Given the description of an element on the screen output the (x, y) to click on. 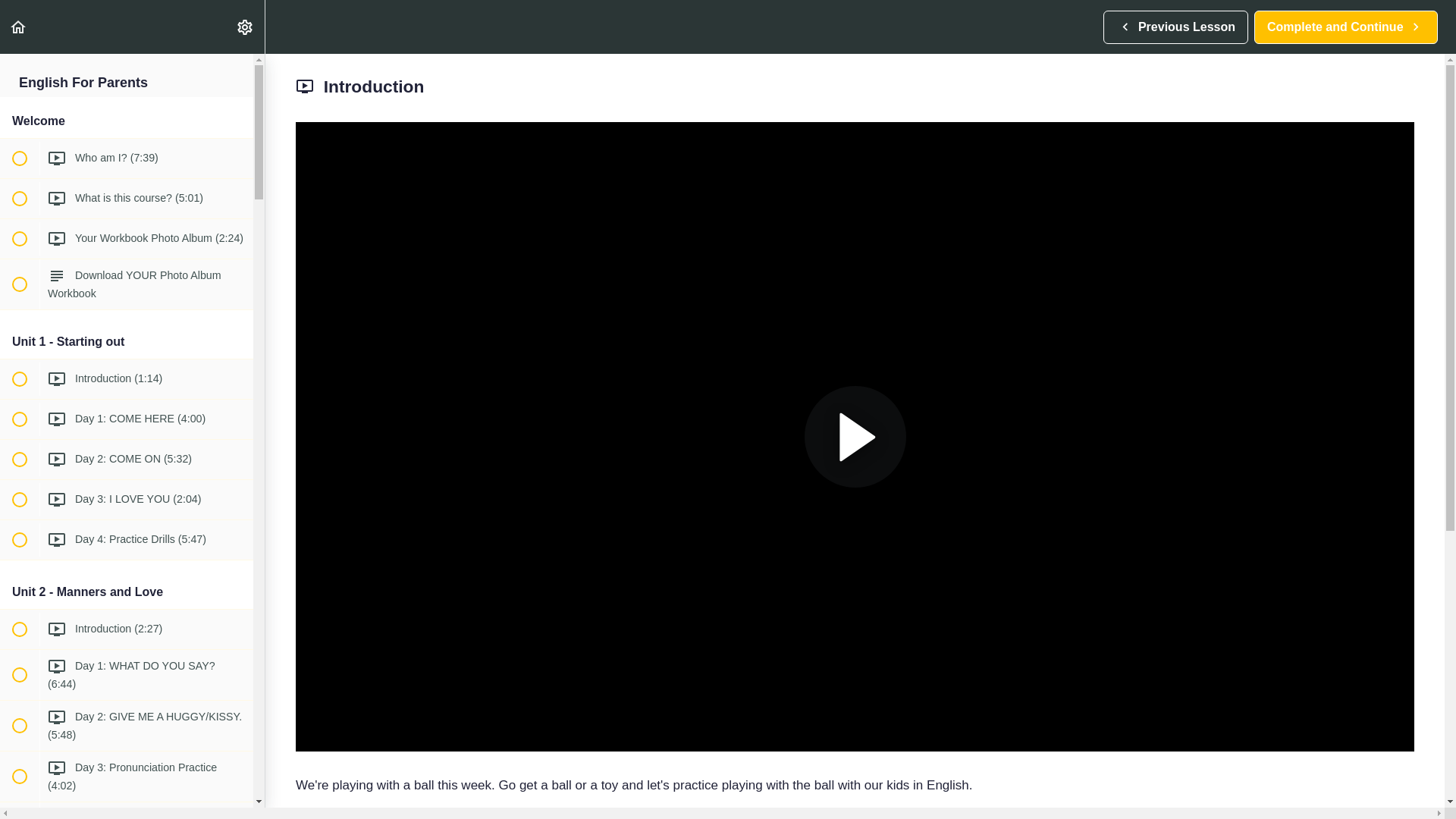
Settings Menu (1345, 27)
  Previous Lesson (244, 27)
  Download YOUR Photo Album Workbook (1175, 27)
Video Player (126, 284)
